Given the description of an element on the screen output the (x, y) to click on. 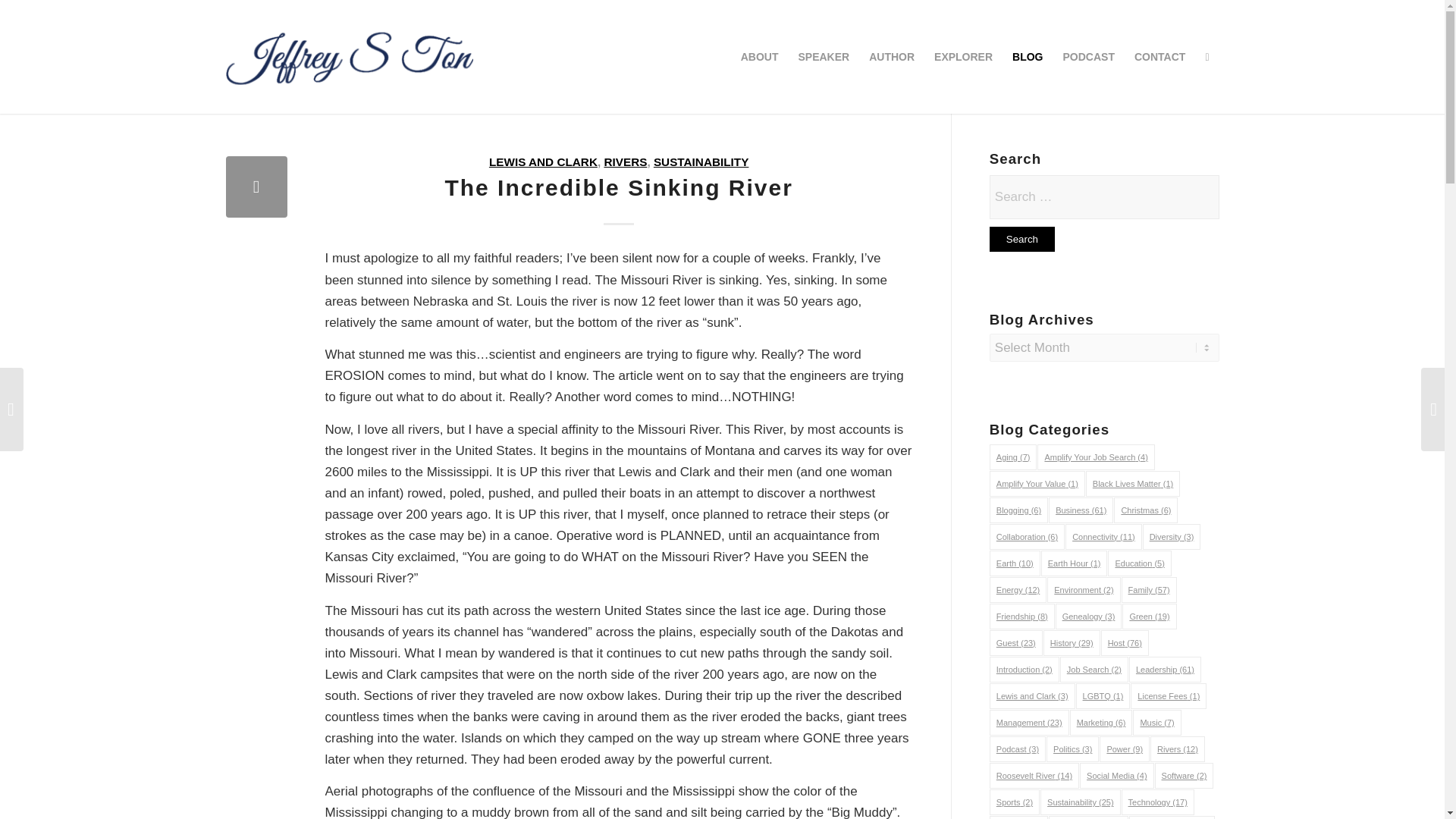
The Incredible Sinking River (255, 186)
RIVERS (625, 161)
SUSTAINABILITY (701, 161)
Search (1022, 238)
Search (1022, 238)
LEWIS AND CLARK (542, 161)
